Given the description of an element on the screen output the (x, y) to click on. 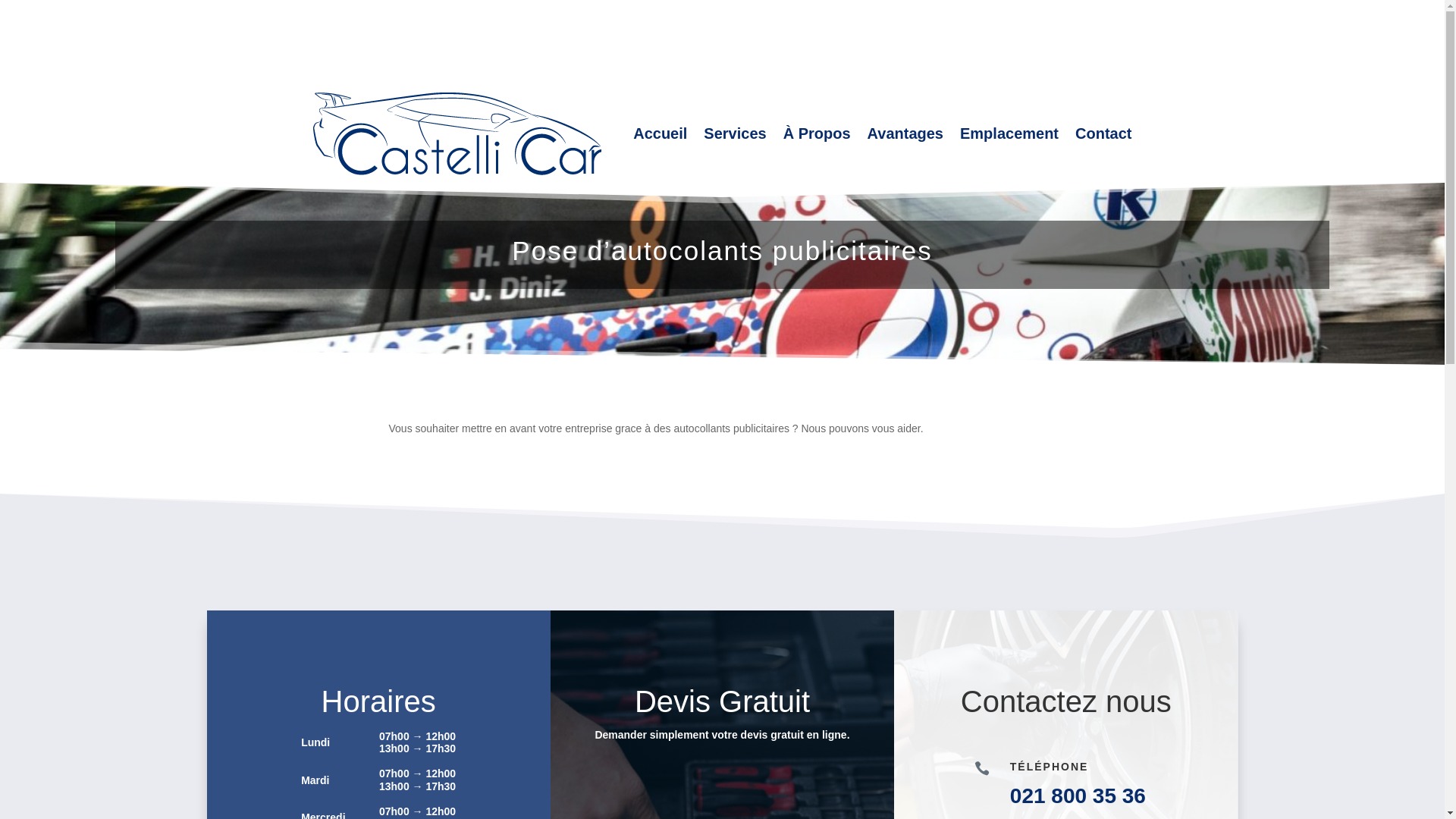
Avantages Element type: text (905, 133)
Contact Element type: text (1103, 133)
Facebook Element type: text (344, 46)
Accueil Element type: text (660, 133)
Route de la Forge 1, 1116 Cottens VD Element type: text (408, 66)
Emplacement Element type: text (1009, 133)
Services Element type: text (734, 133)
info@castellicar.ch Element type: text (439, 8)
Facebook Element type: text (344, 27)
